Given the description of an element on the screen output the (x, y) to click on. 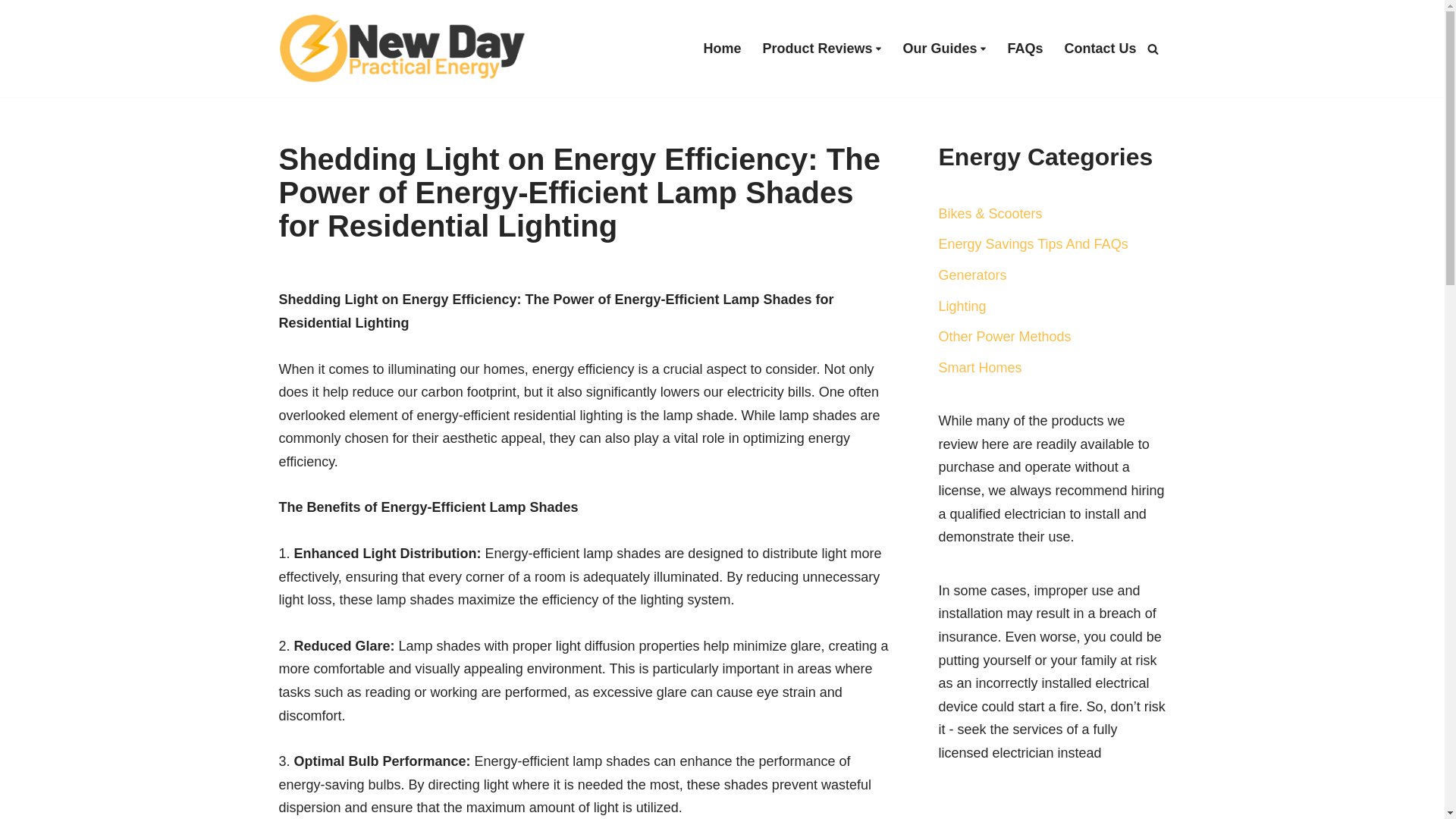
Home (722, 47)
FAQs (1024, 47)
Product Reviews (816, 47)
Our Guides (939, 47)
Contact Us (1099, 47)
Skip to content (11, 31)
